Given the description of an element on the screen output the (x, y) to click on. 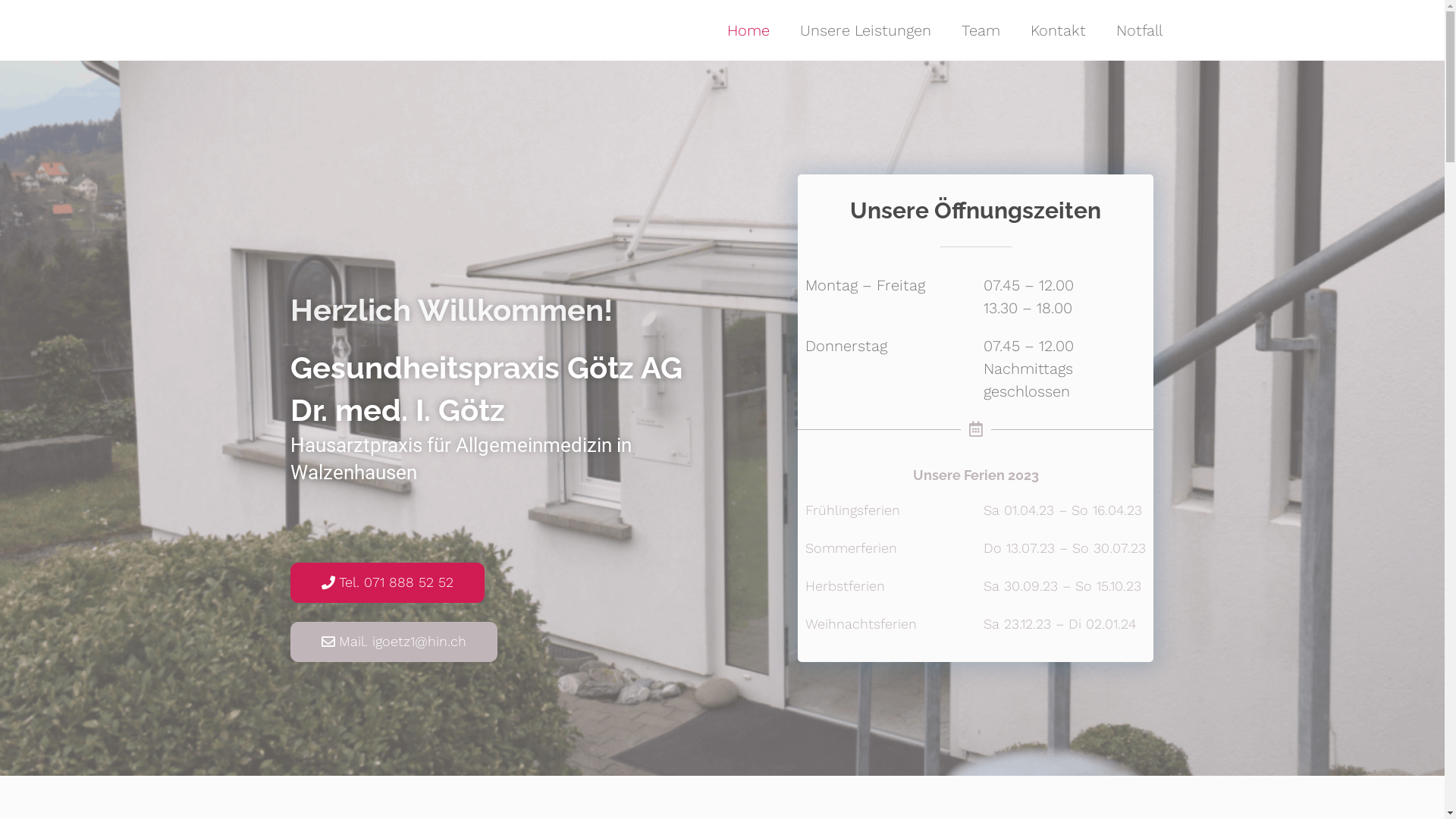
Mail. igoetz1@hin.ch Element type: text (392, 641)
Tel. 071 888 52 52 Element type: text (386, 582)
Unsere Leistungen Element type: text (864, 30)
Home Element type: text (747, 30)
Team Element type: text (980, 30)
Kontakt Element type: text (1057, 30)
Notfall Element type: text (1139, 30)
